Given the description of an element on the screen output the (x, y) to click on. 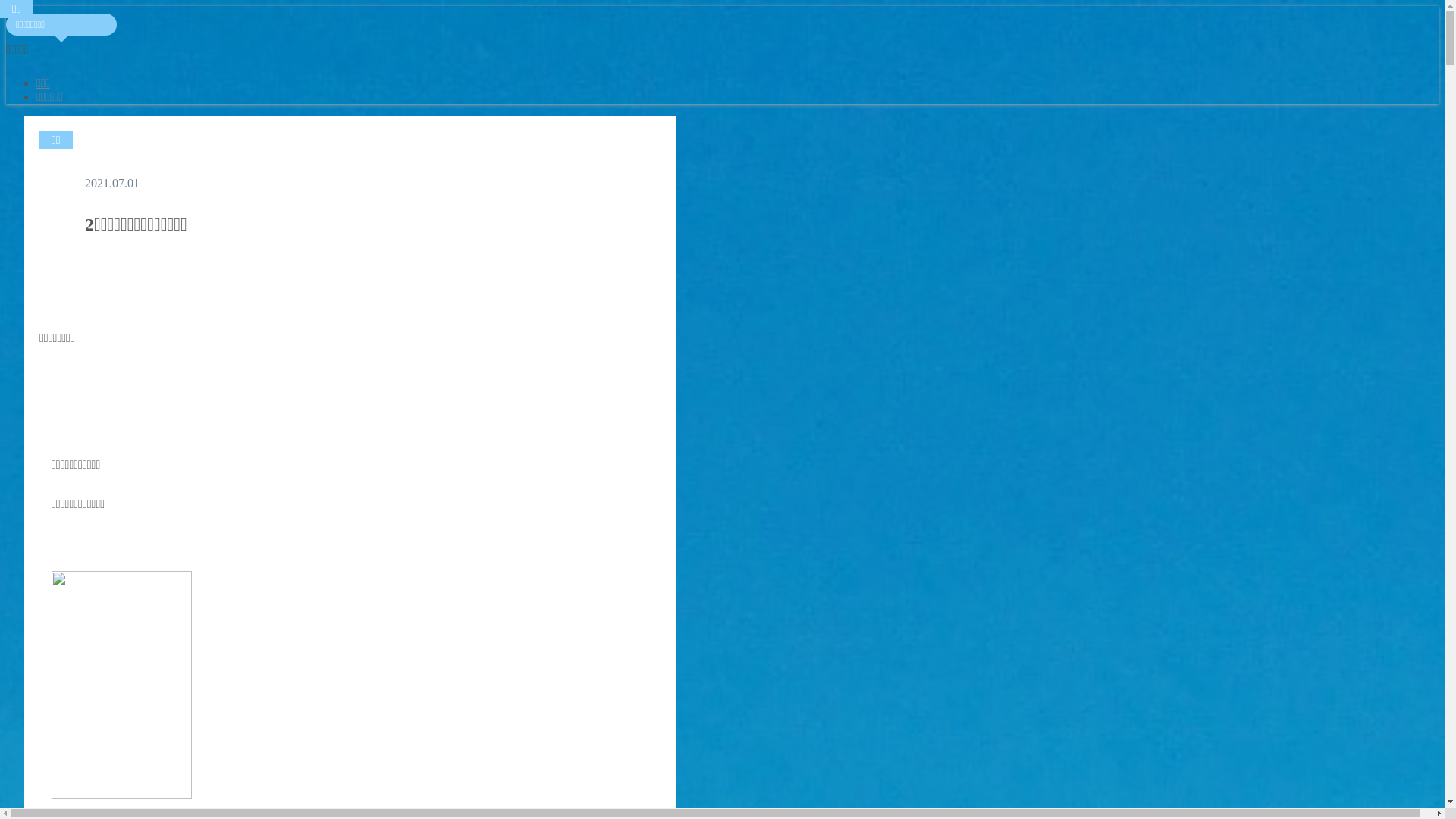
Advertisement Element type: hover (350, 379)
